Given the description of an element on the screen output the (x, y) to click on. 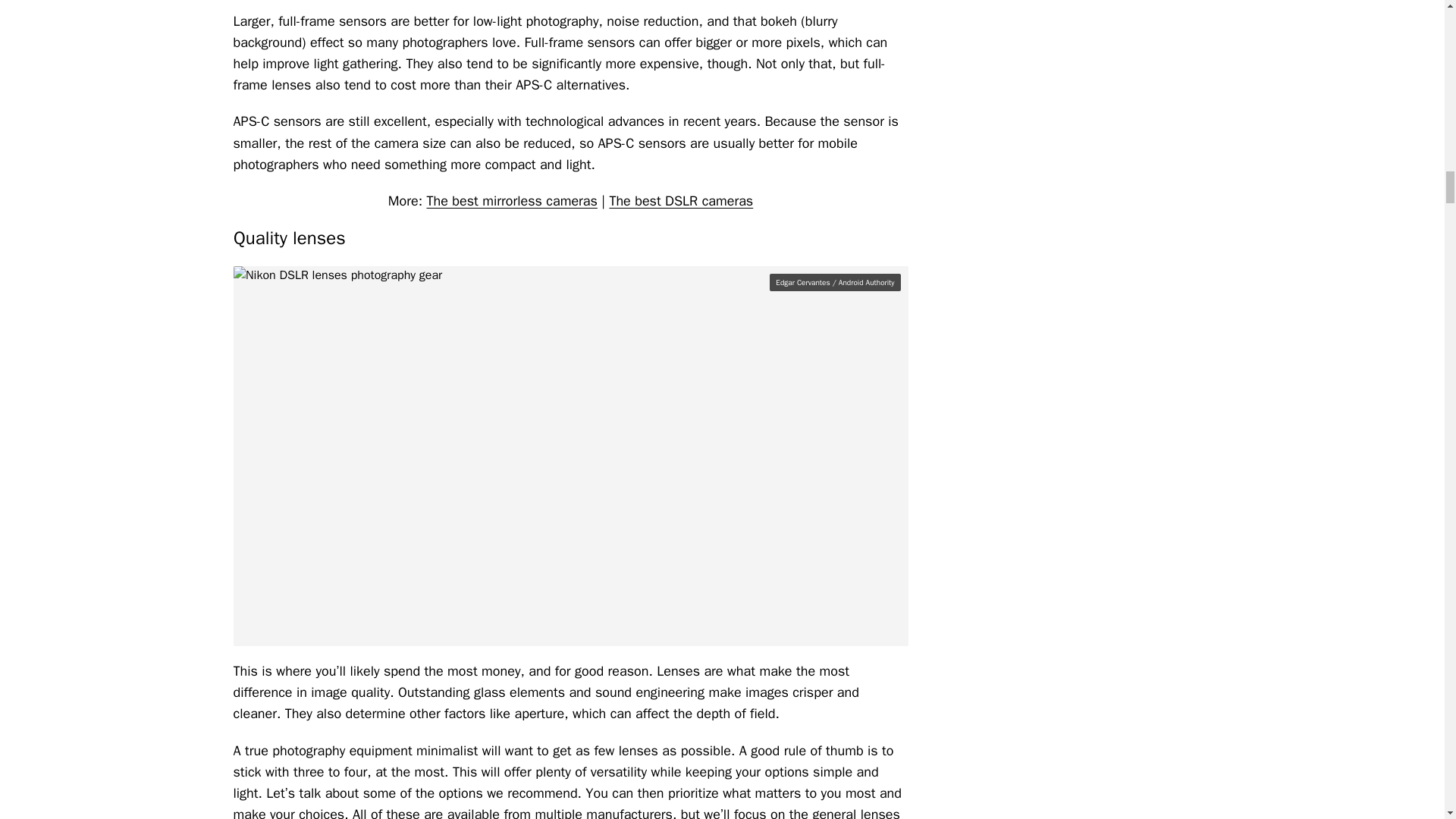
The best DSLR cameras (680, 200)
The best mirrorless cameras (511, 200)
